Given the description of an element on the screen output the (x, y) to click on. 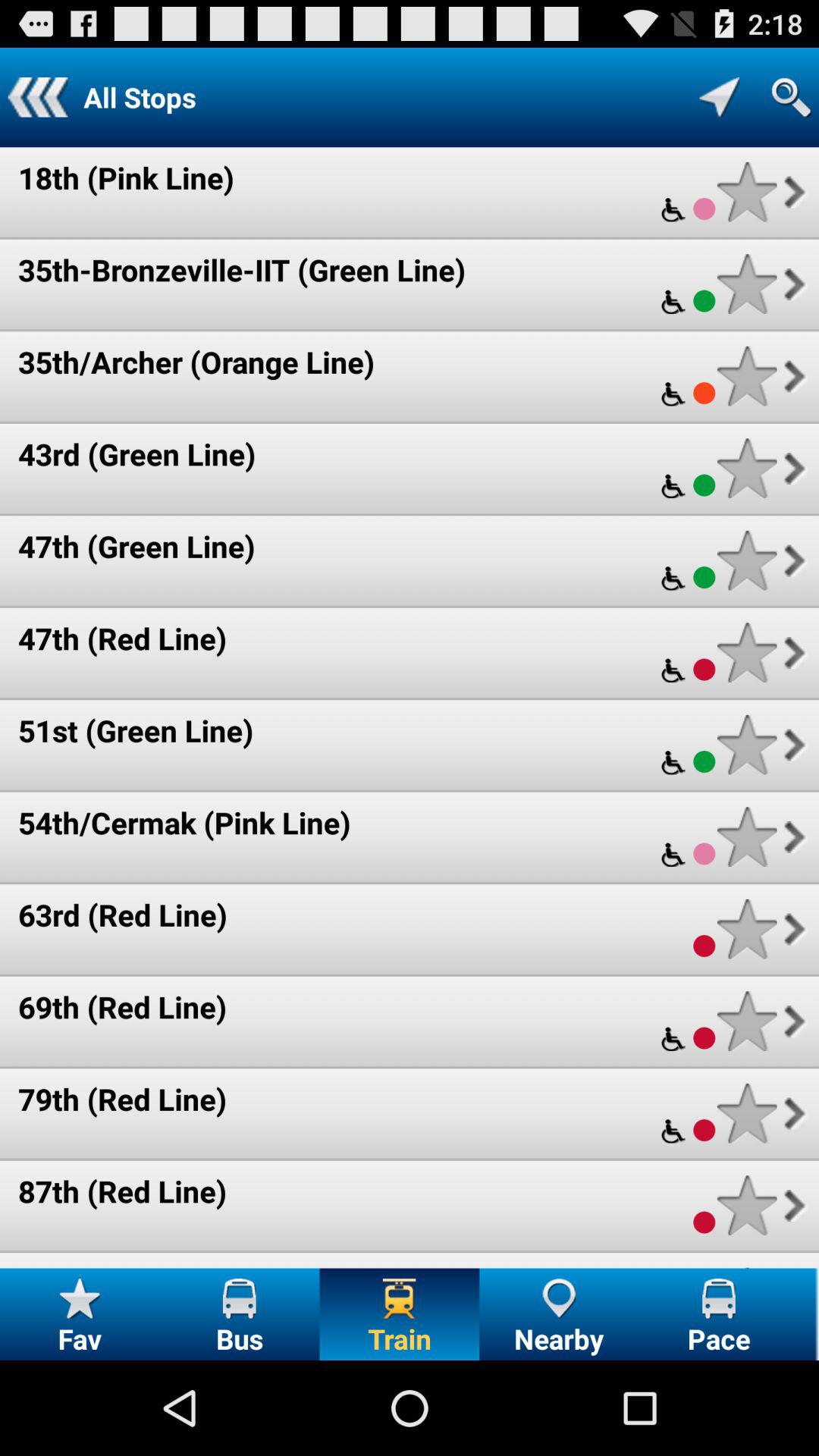
favorite (746, 376)
